Given the description of an element on the screen output the (x, y) to click on. 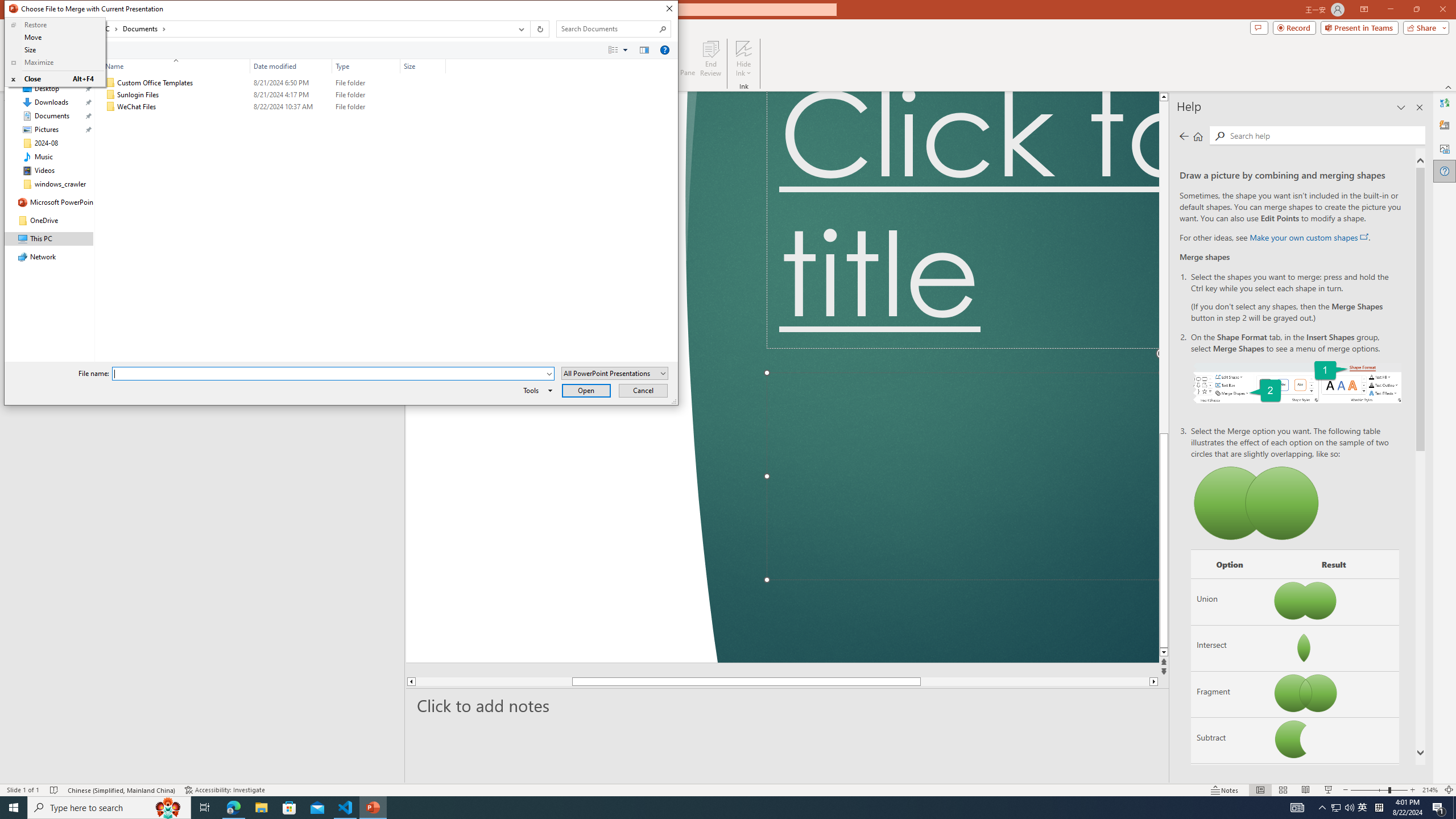
Filter dropdown (440, 65)
Custom Office Templates (273, 82)
Type (365, 65)
File name: (333, 373)
File name: (329, 373)
Name (183, 106)
Type here to search (108, 807)
Translator (1444, 102)
Preview pane (644, 49)
Documents (144, 28)
